Given the description of an element on the screen output the (x, y) to click on. 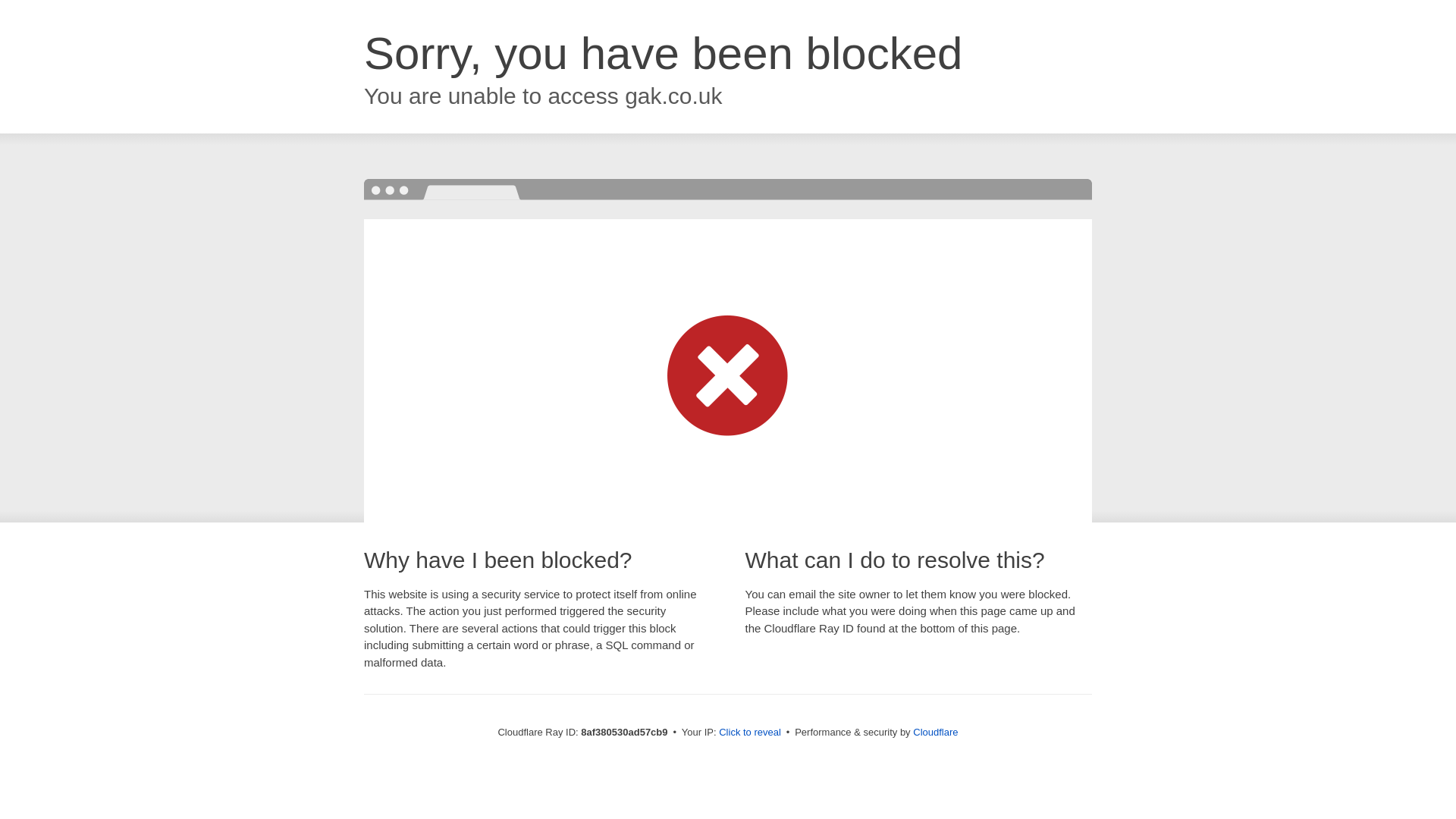
Cloudflare (935, 731)
Click to reveal (749, 732)
